Given the description of an element on the screen output the (x, y) to click on. 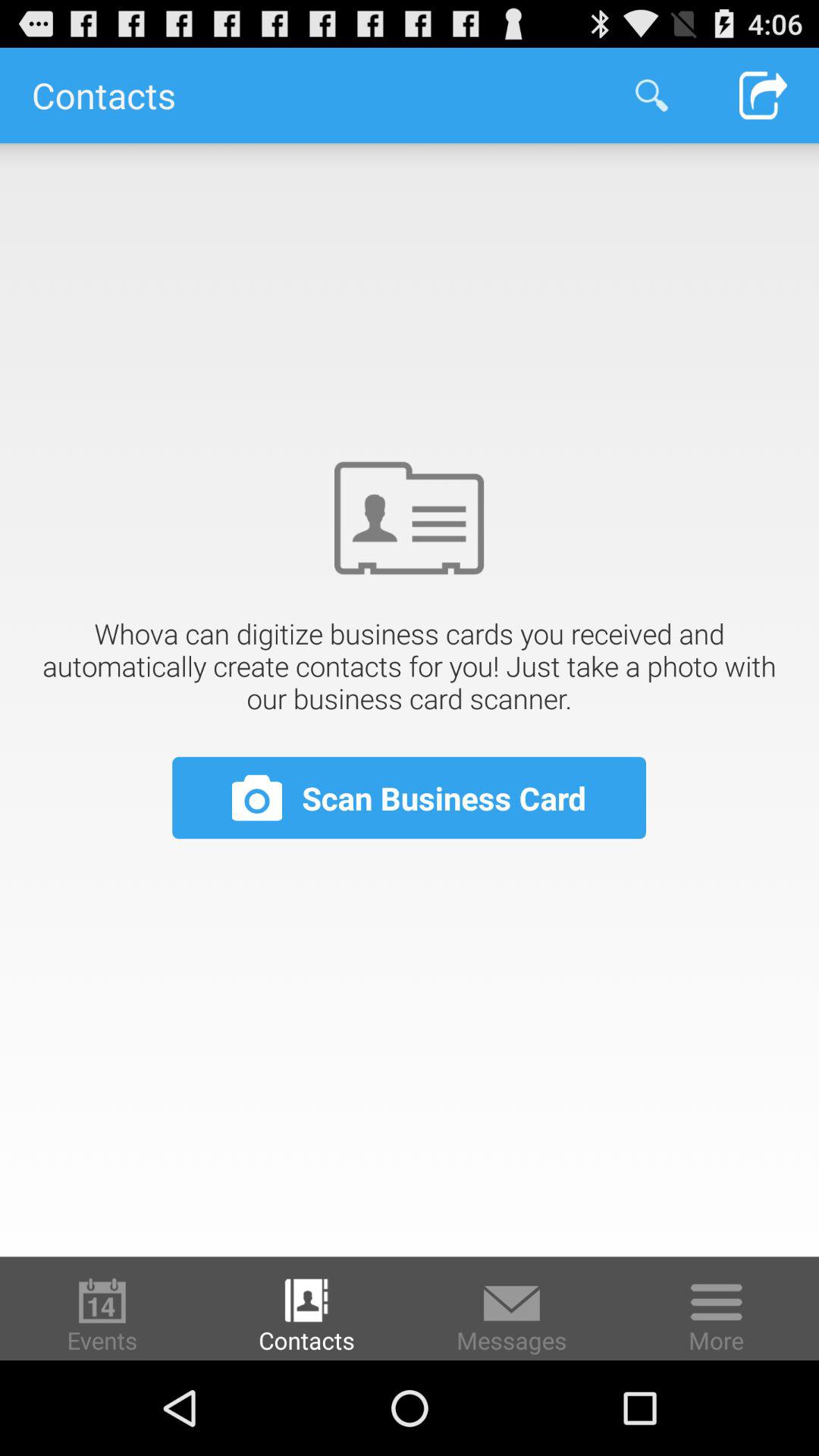
press the app to the right of contacts icon (651, 95)
